Given the description of an element on the screen output the (x, y) to click on. 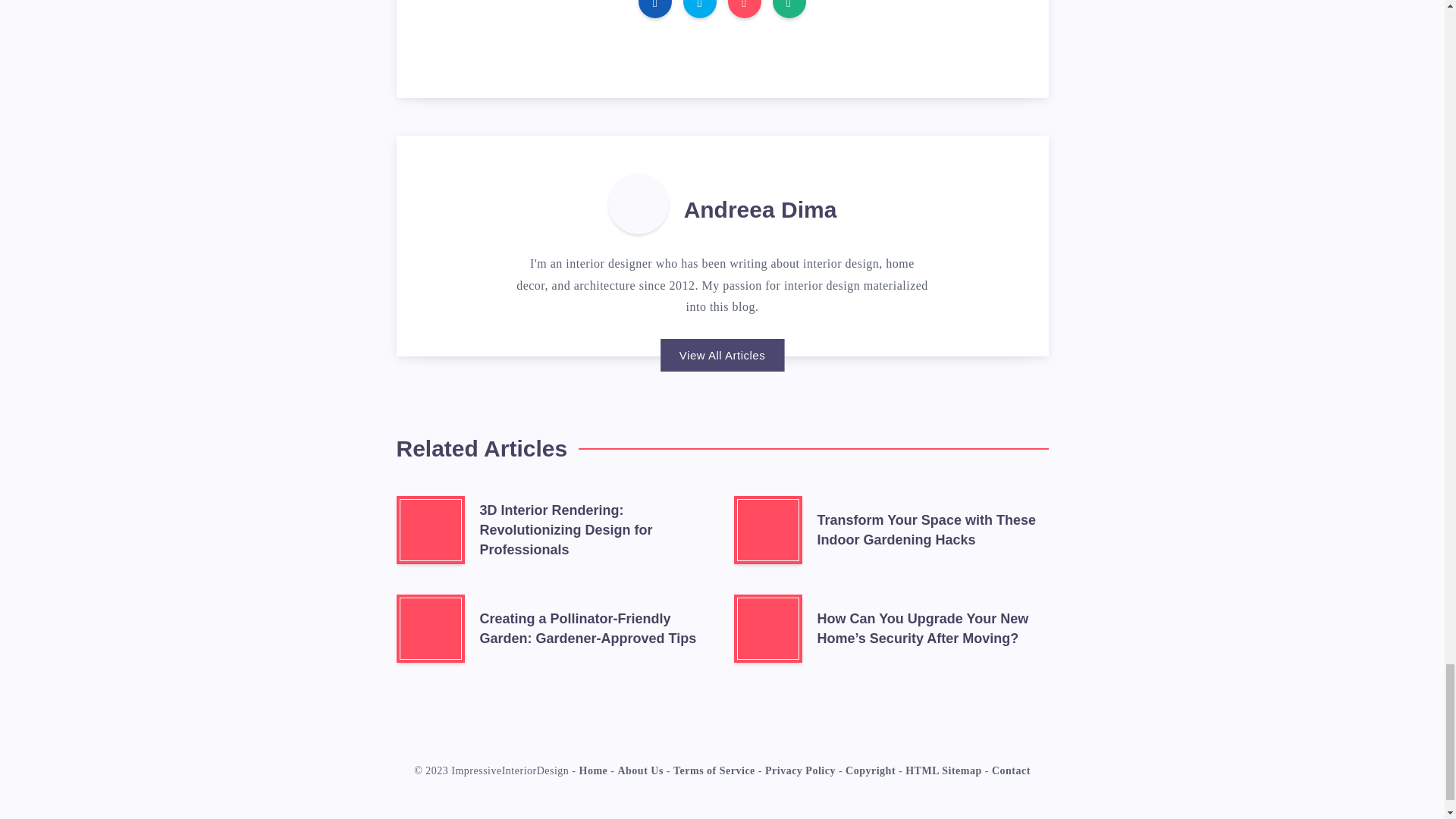
Author: Andreea Dima (638, 203)
Andreea Dima (760, 211)
